Given the description of an element on the screen output the (x, y) to click on. 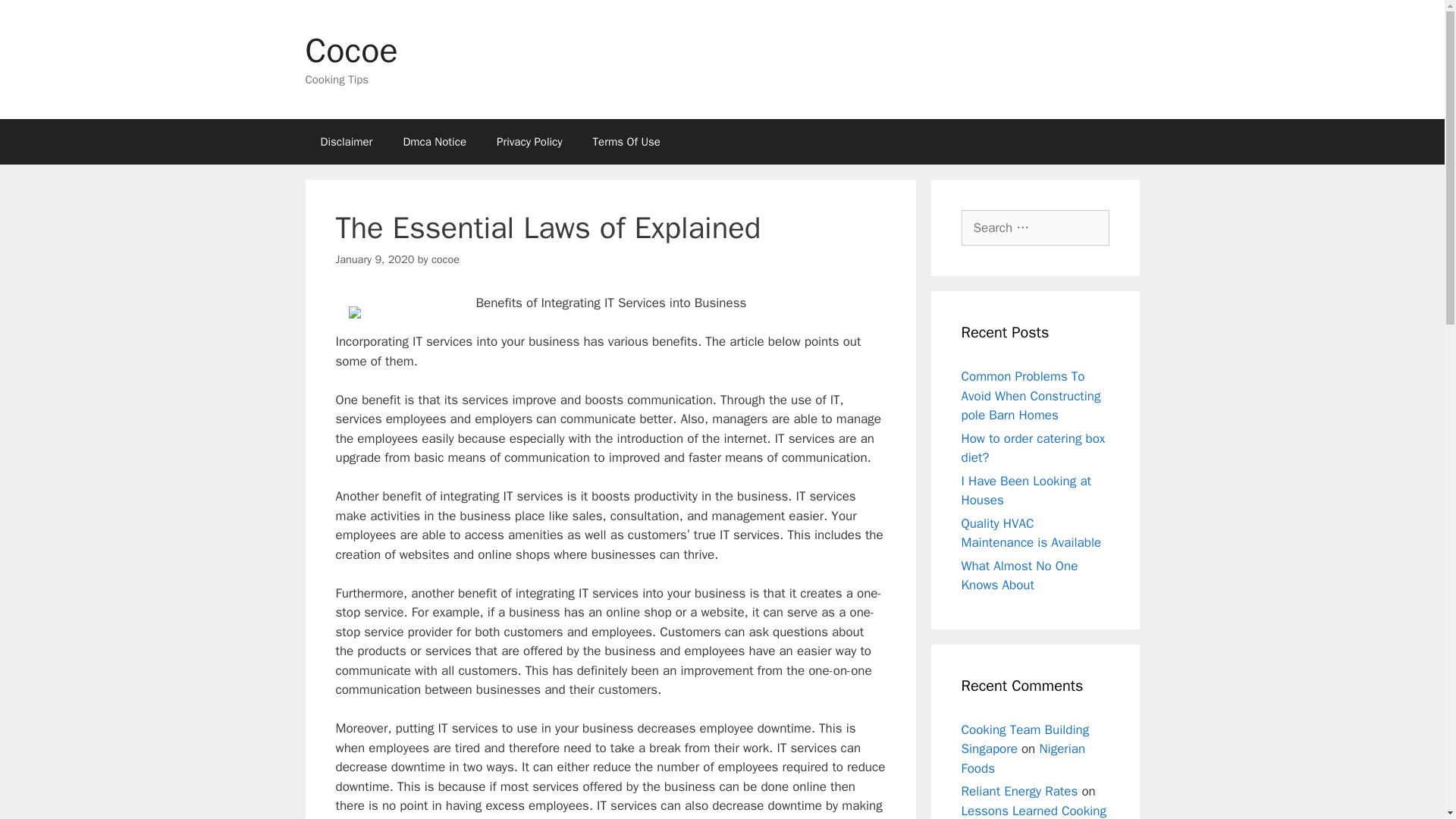
Cocoe (350, 50)
12:47 pm (373, 259)
How to order catering box diet? (1032, 448)
Disclaimer (345, 140)
Nigerian Foods (1023, 758)
January 9, 2020 (373, 259)
Dmca Notice (434, 140)
Search (35, 18)
Privacy Policy (529, 140)
Cooking Team Building Singapore (1024, 739)
Search for: (1034, 227)
Reliant Energy Rates (1019, 790)
Quality HVAC Maintenance is Available (1031, 533)
Common Problems To Avoid When Constructing pole Barn Homes (1030, 395)
I Have Been Looking at Houses (1025, 490)
